Given the description of an element on the screen output the (x, y) to click on. 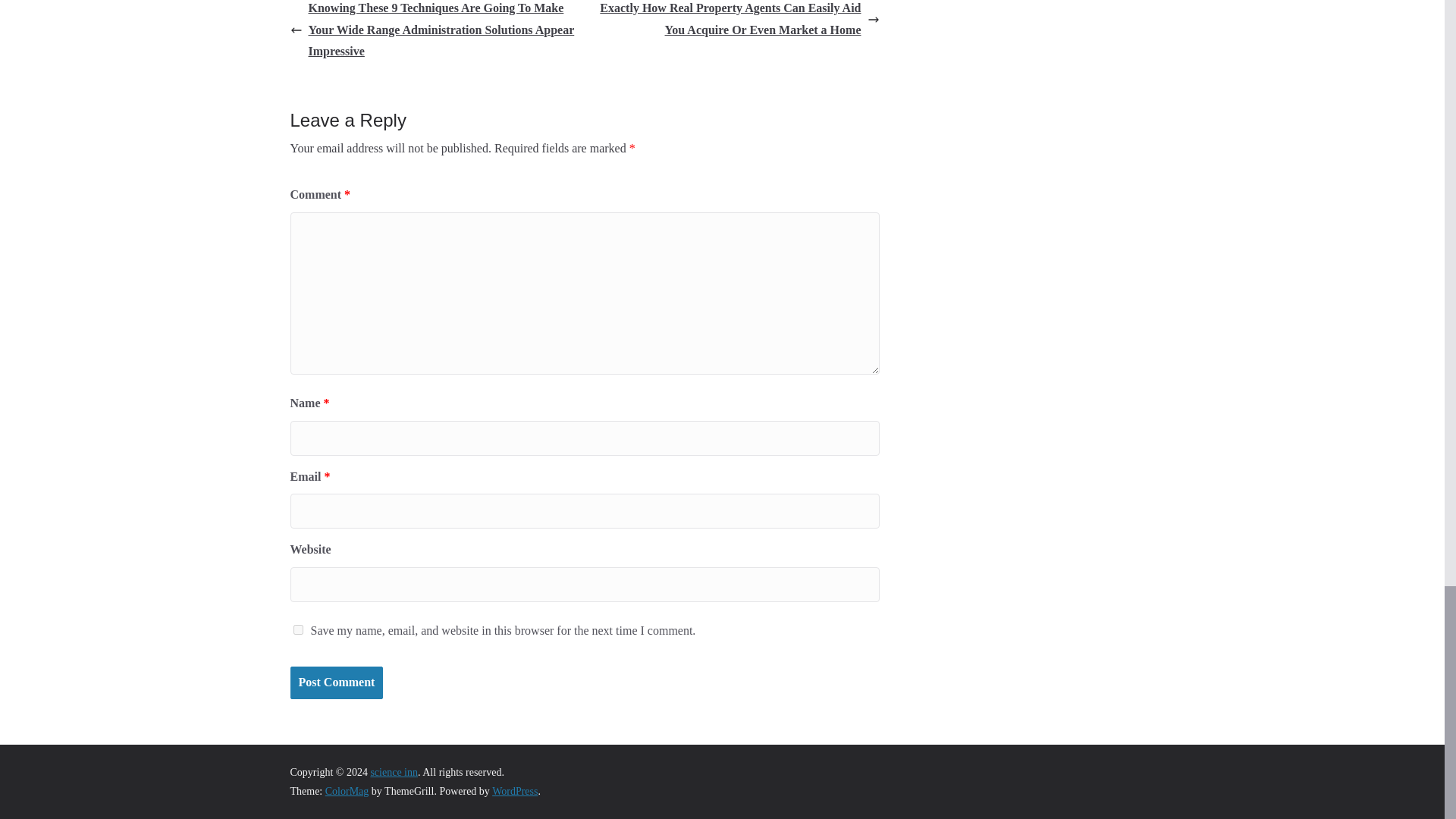
WordPress (514, 790)
ColorMag (346, 790)
yes (297, 629)
WordPress (514, 790)
Post Comment (335, 682)
Post Comment (335, 682)
science inn (393, 772)
science inn (393, 772)
ColorMag (346, 790)
